Given the description of an element on the screen output the (x, y) to click on. 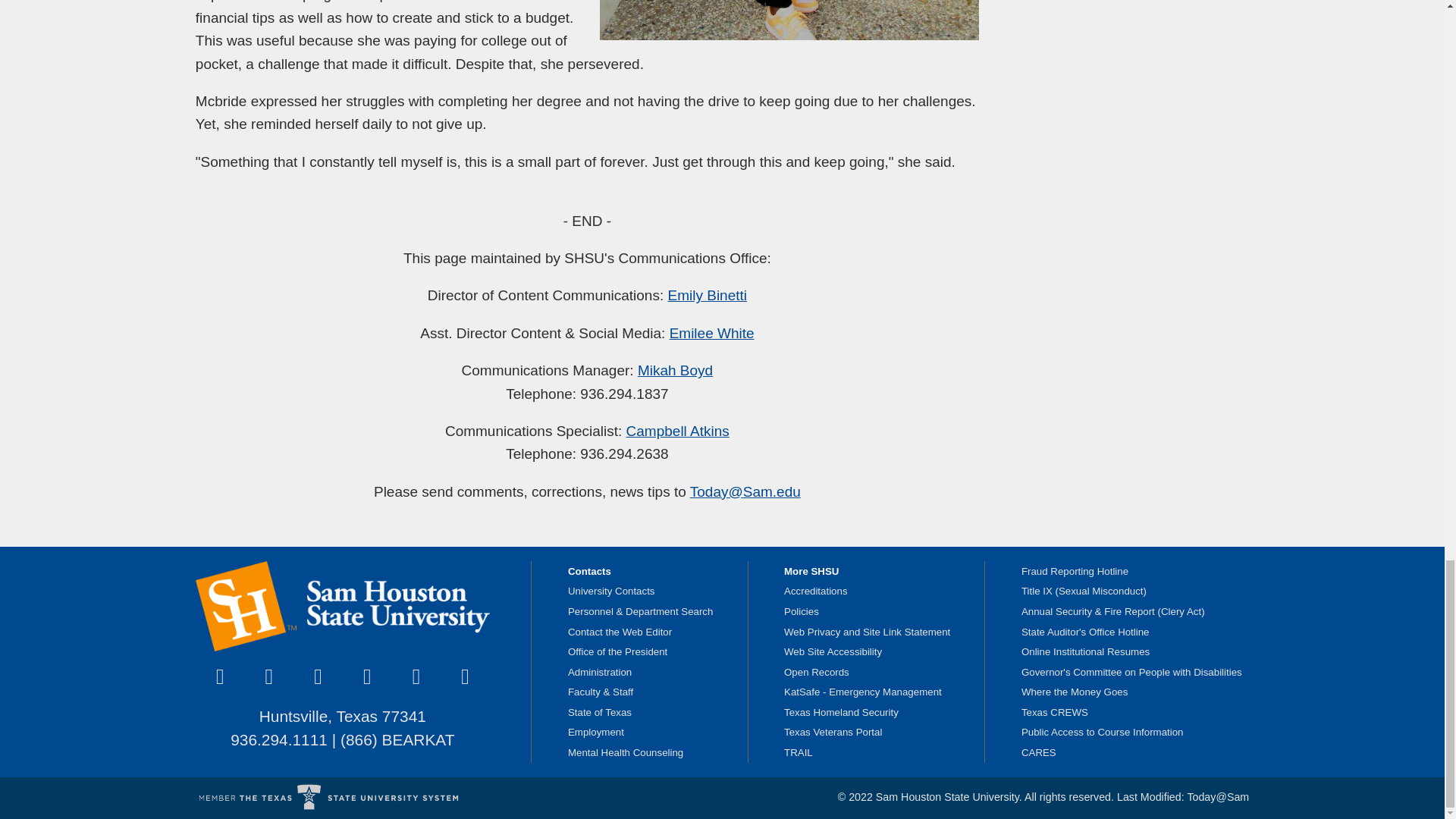
Like Sam Houston State University on Facebook (219, 676)
Follow Sam Houston State on Instagram (318, 676)
Check out SHSU's photos on Flickr (465, 676)
Connect with SHSU on LinkedIn (416, 676)
Follow Sam Houston State on Twitter (269, 676)
Subscribe to Sam Houston State University on YouTube (366, 676)
